Given the description of an element on the screen output the (x, y) to click on. 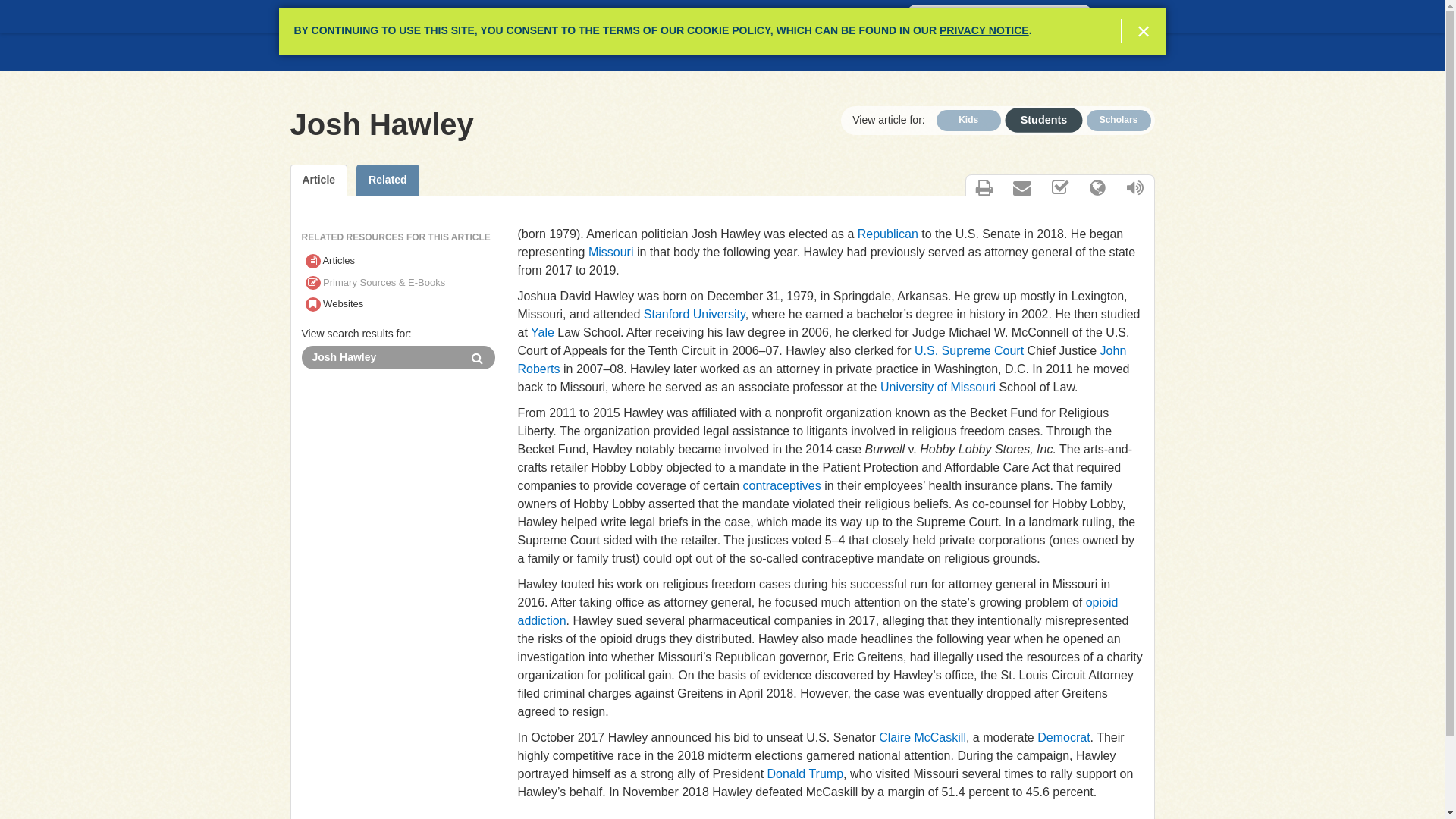
STUDENTS (336, 16)
Josh Hawley (381, 357)
Josh Hawley (381, 357)
